Given the description of an element on the screen output the (x, y) to click on. 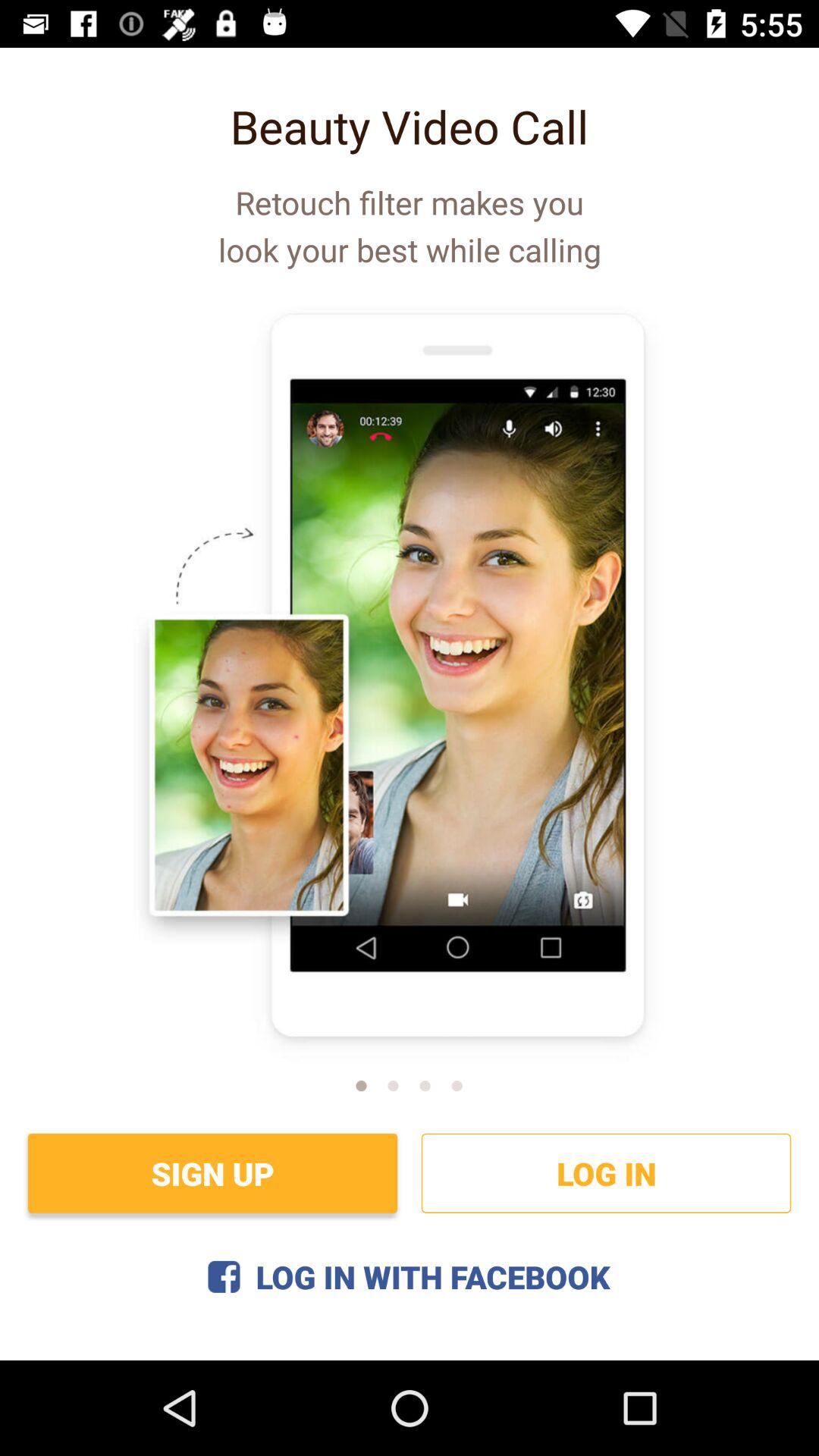
turn on sign up (212, 1173)
